Given the description of an element on the screen output the (x, y) to click on. 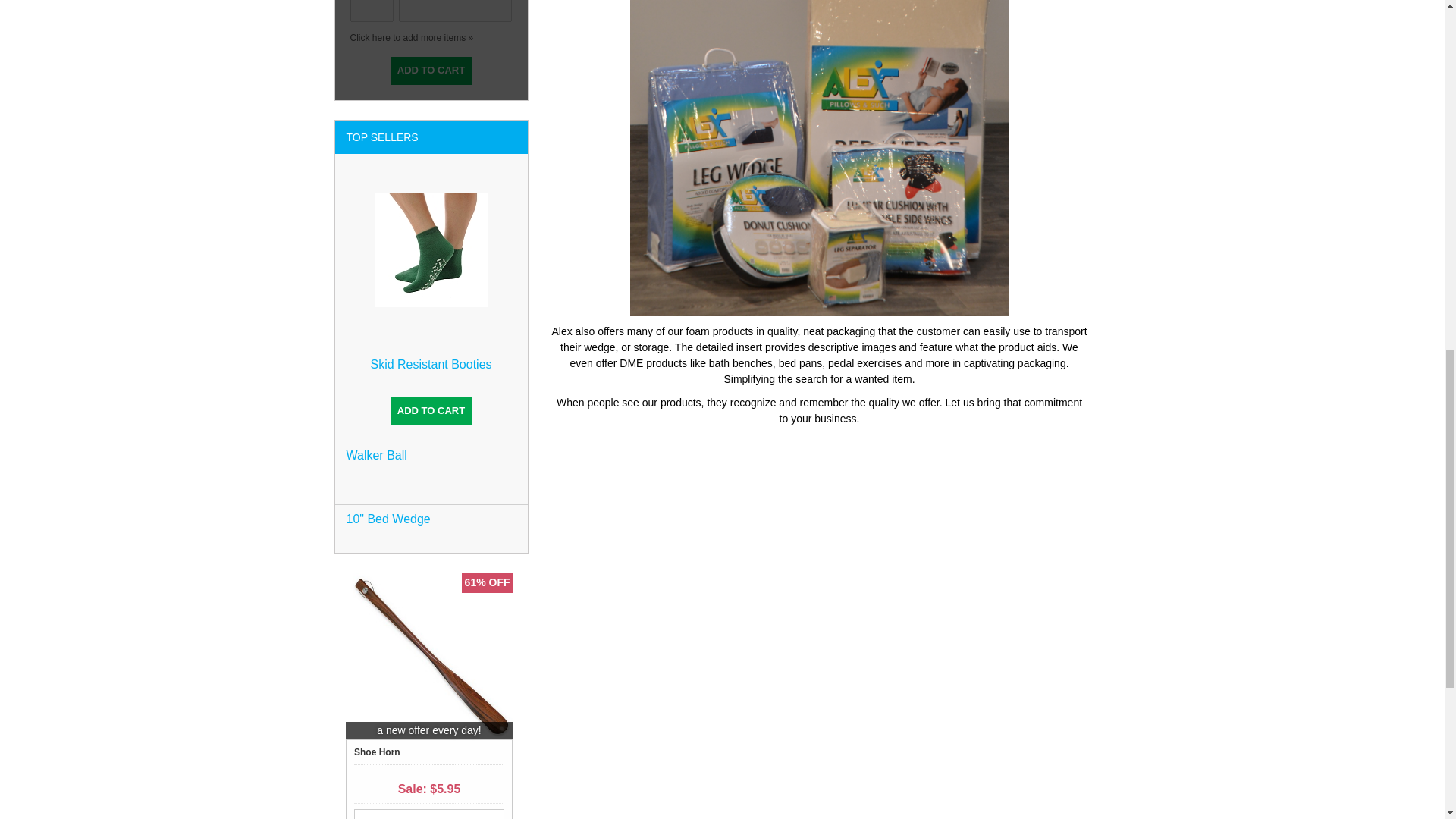
Add to Cart (430, 70)
